Given the description of an element on the screen output the (x, y) to click on. 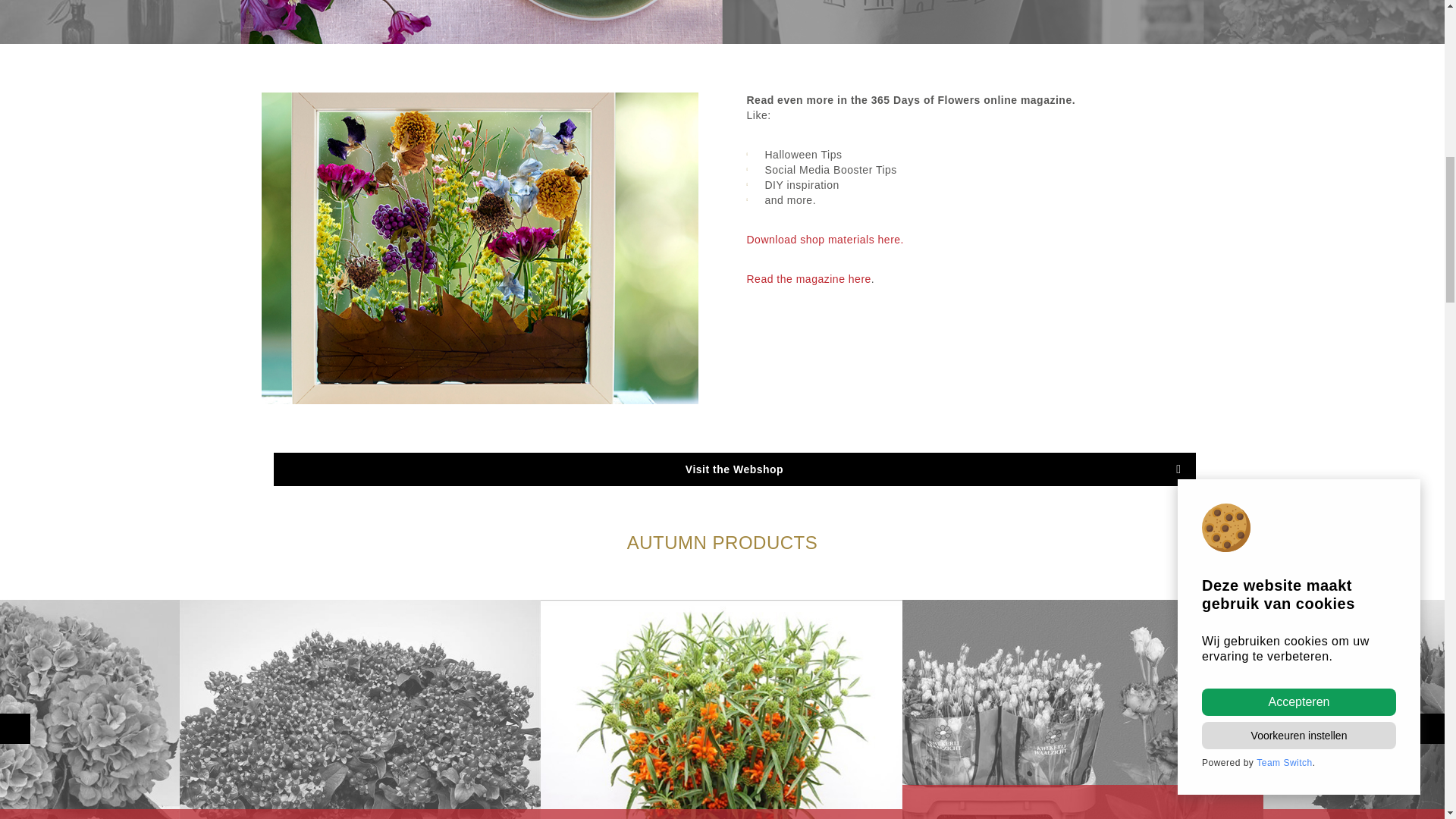
Download shop materials here. (824, 239)
Read the magazine here (807, 278)
Visit the Webshop (734, 469)
